Given the description of an element on the screen output the (x, y) to click on. 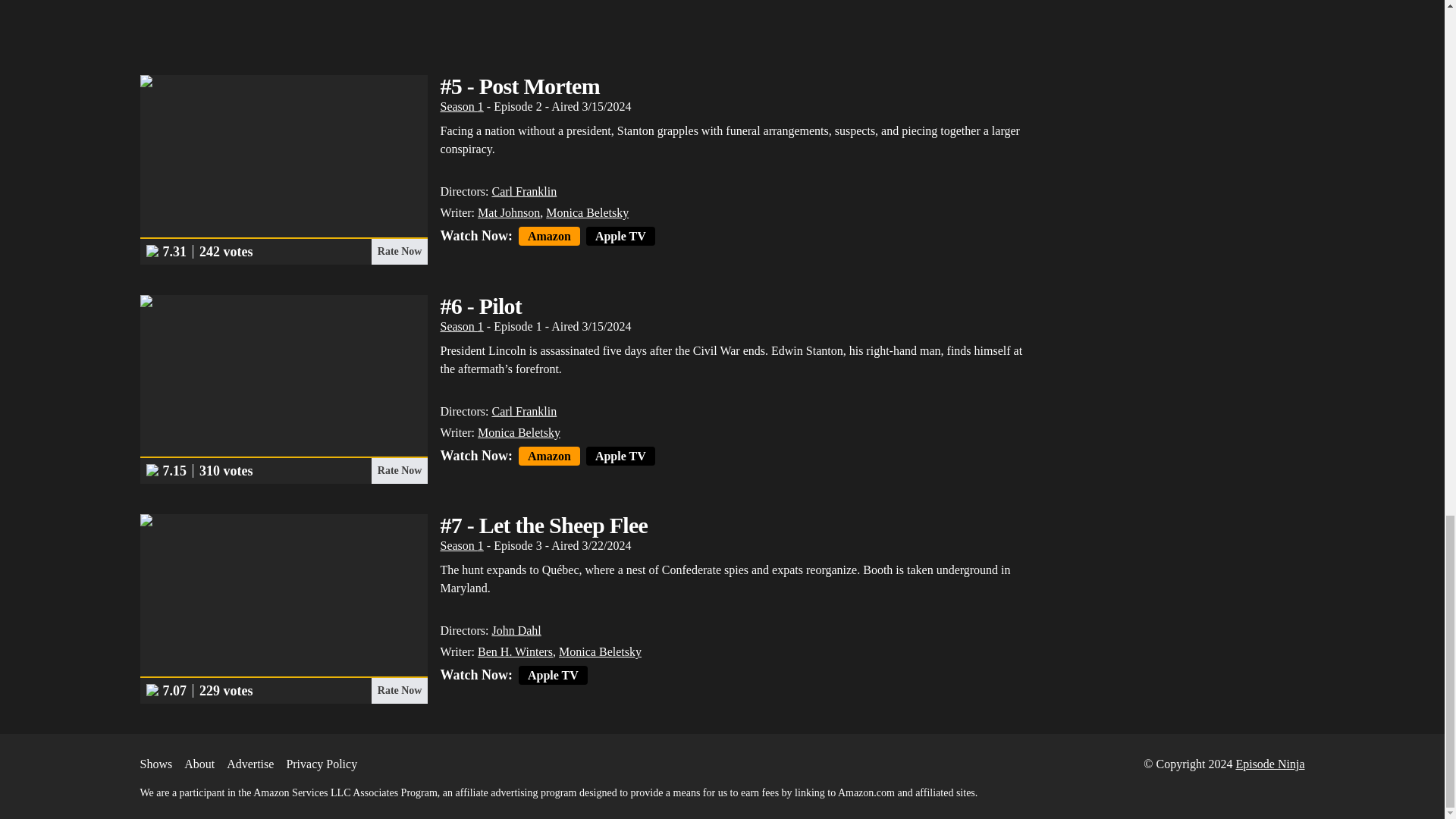
Season 1 (461, 106)
Rate Now (399, 251)
Carl Franklin (524, 191)
